Given the description of an element on the screen output the (x, y) to click on. 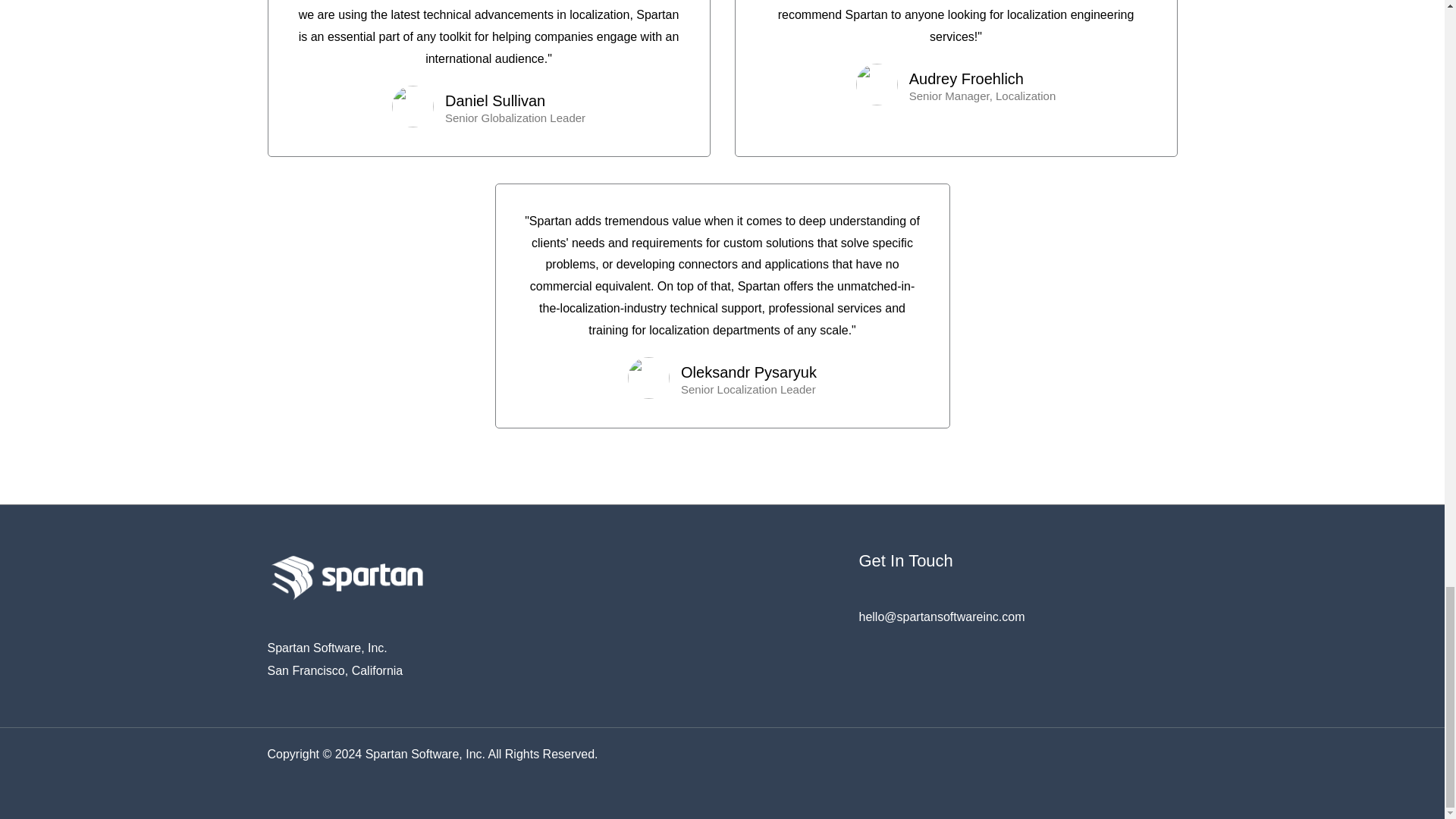
Oleksandr Pysaryuk (748, 371)
Daniel Sullivan (515, 100)
Audrey Froehlich (981, 78)
Senior Manager, Localization (981, 95)
Senior Localization Leader (748, 388)
Senior Globalization Leader (515, 117)
